Given the description of an element on the screen output the (x, y) to click on. 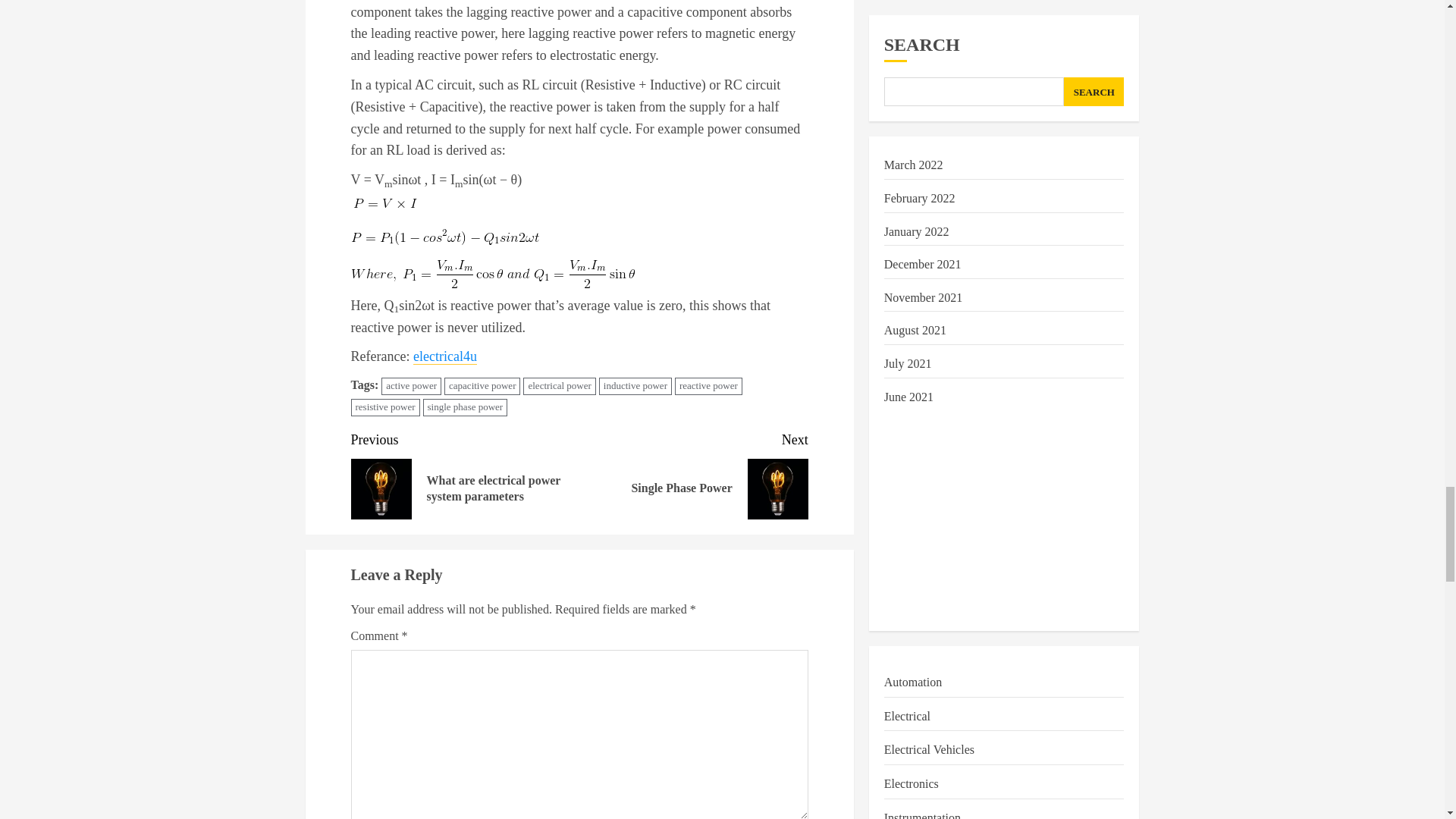
capacitive power (481, 385)
electrical4u (693, 474)
active power (445, 356)
resistive power (411, 385)
reactive power (384, 407)
single phase power (708, 385)
inductive power (465, 407)
electrical power (634, 385)
